Given the description of an element on the screen output the (x, y) to click on. 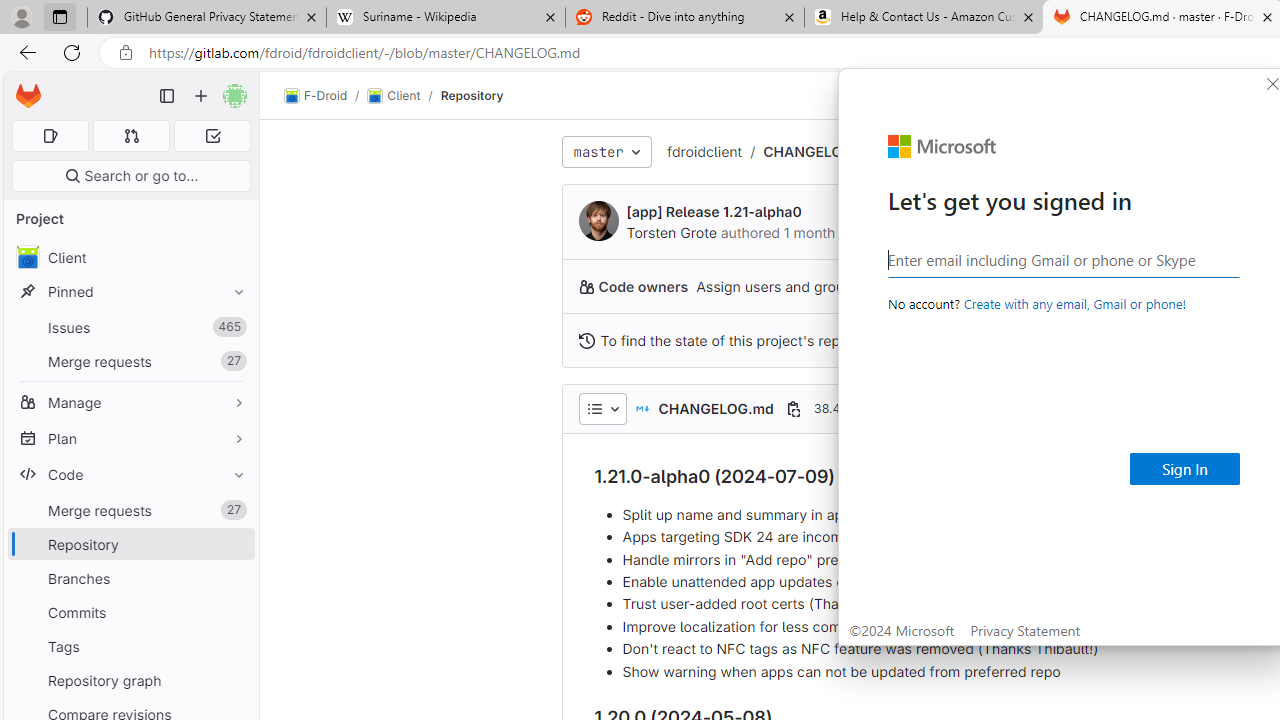
Tags (130, 646)
Enter email including Gmail or phone or Skype (1064, 259)
Merge requests27 (130, 510)
Class: s16 gl-mr-1 gl-align-text-bottom (586, 340)
